Given the description of an element on the screen output the (x, y) to click on. 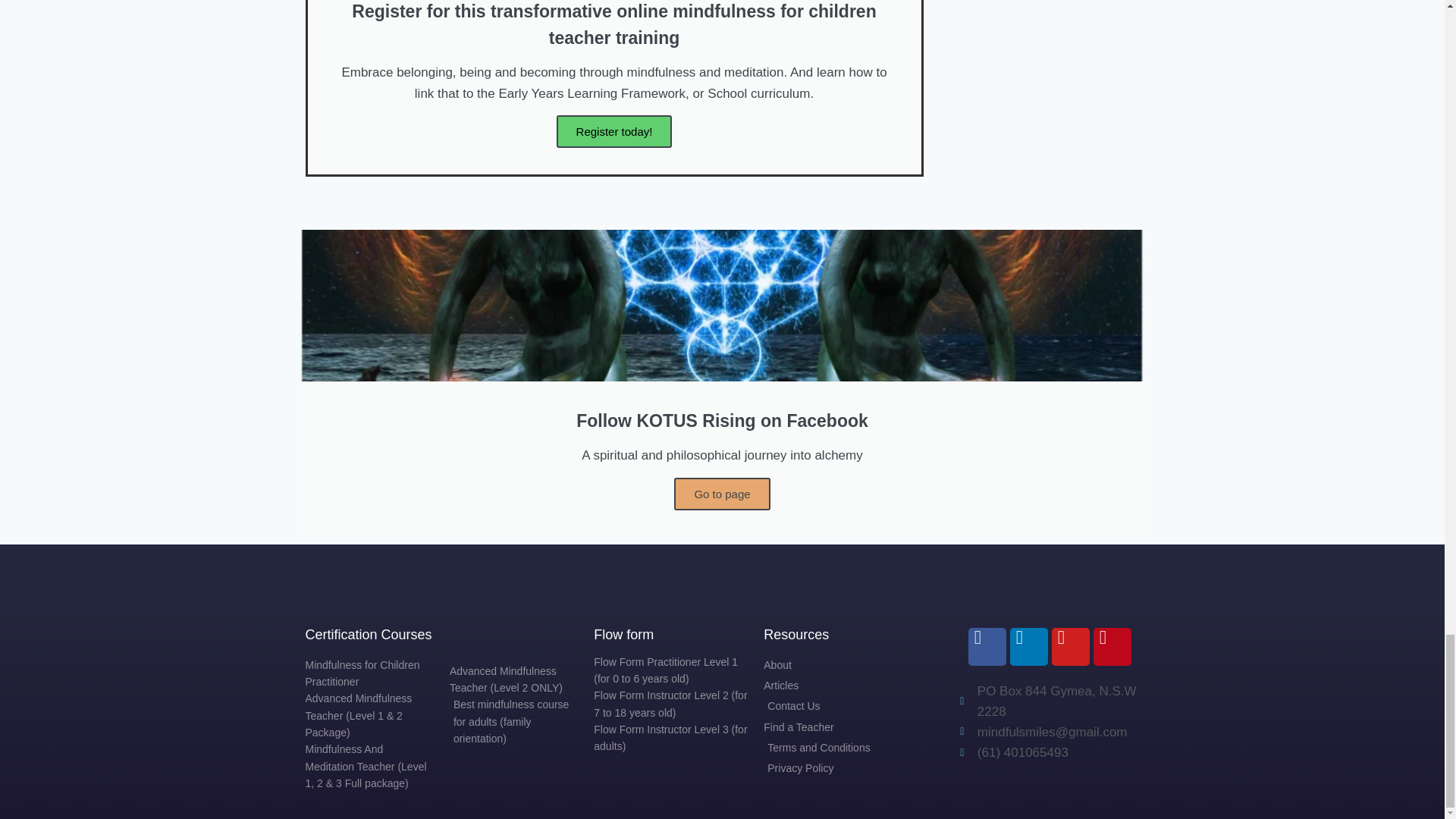
Articles (829, 685)
Register today! (614, 131)
About (829, 664)
Go to page (722, 493)
Mindfulness for Children Practitioner (368, 673)
